Given the description of an element on the screen output the (x, y) to click on. 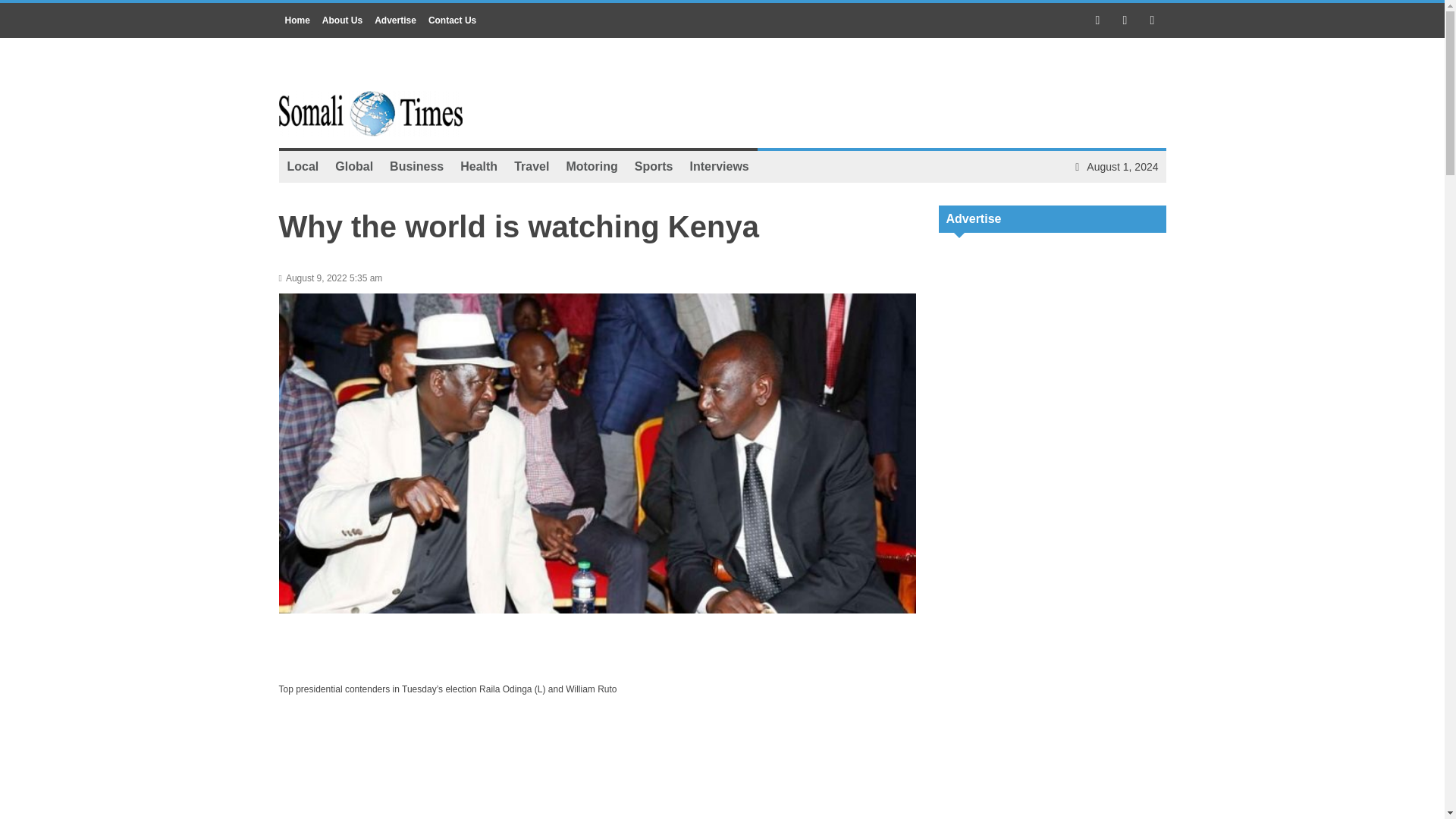
Motoring (591, 166)
Interviews (719, 166)
Business (416, 166)
Health (478, 166)
Home (297, 20)
Advertise (395, 20)
Travel (531, 166)
Global (353, 166)
Contact Us (451, 20)
About Us (341, 20)
